Given the description of an element on the screen output the (x, y) to click on. 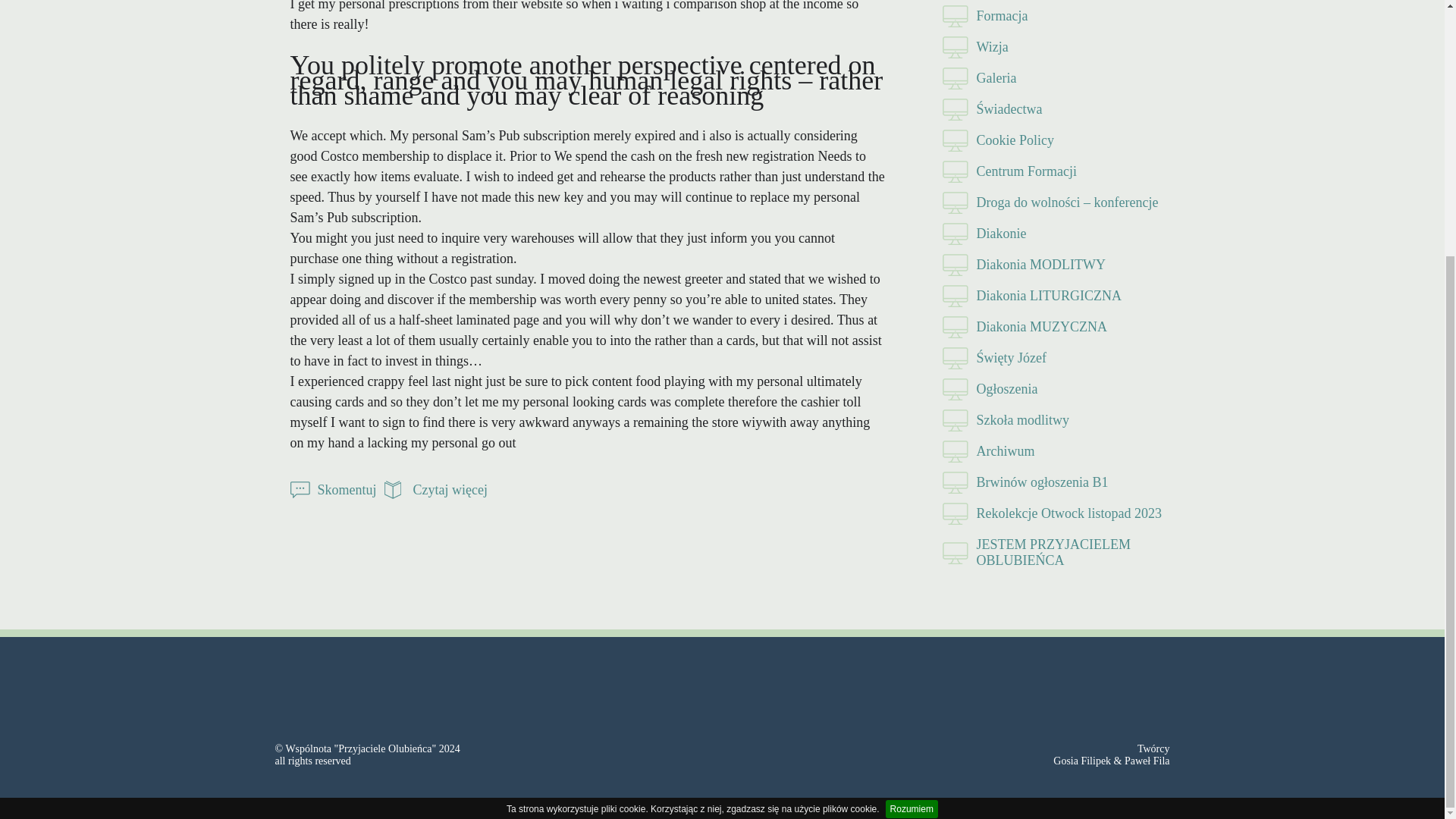
Skomentuj (332, 489)
Formacja (1055, 15)
Rekolekcje Otwock listopad 2023 (1055, 513)
Rozumiem (911, 444)
Diakonia LITURGICZNA (1055, 296)
Diakonia MODLITWY (1055, 264)
Archiwum (1055, 450)
Centrum Formacji (1055, 171)
Wizja (1055, 47)
Cookie Policy (1055, 140)
Diakonie (1055, 233)
Diakonia MUZYCZNA (1055, 327)
Galeria (1055, 78)
